Given the description of an element on the screen output the (x, y) to click on. 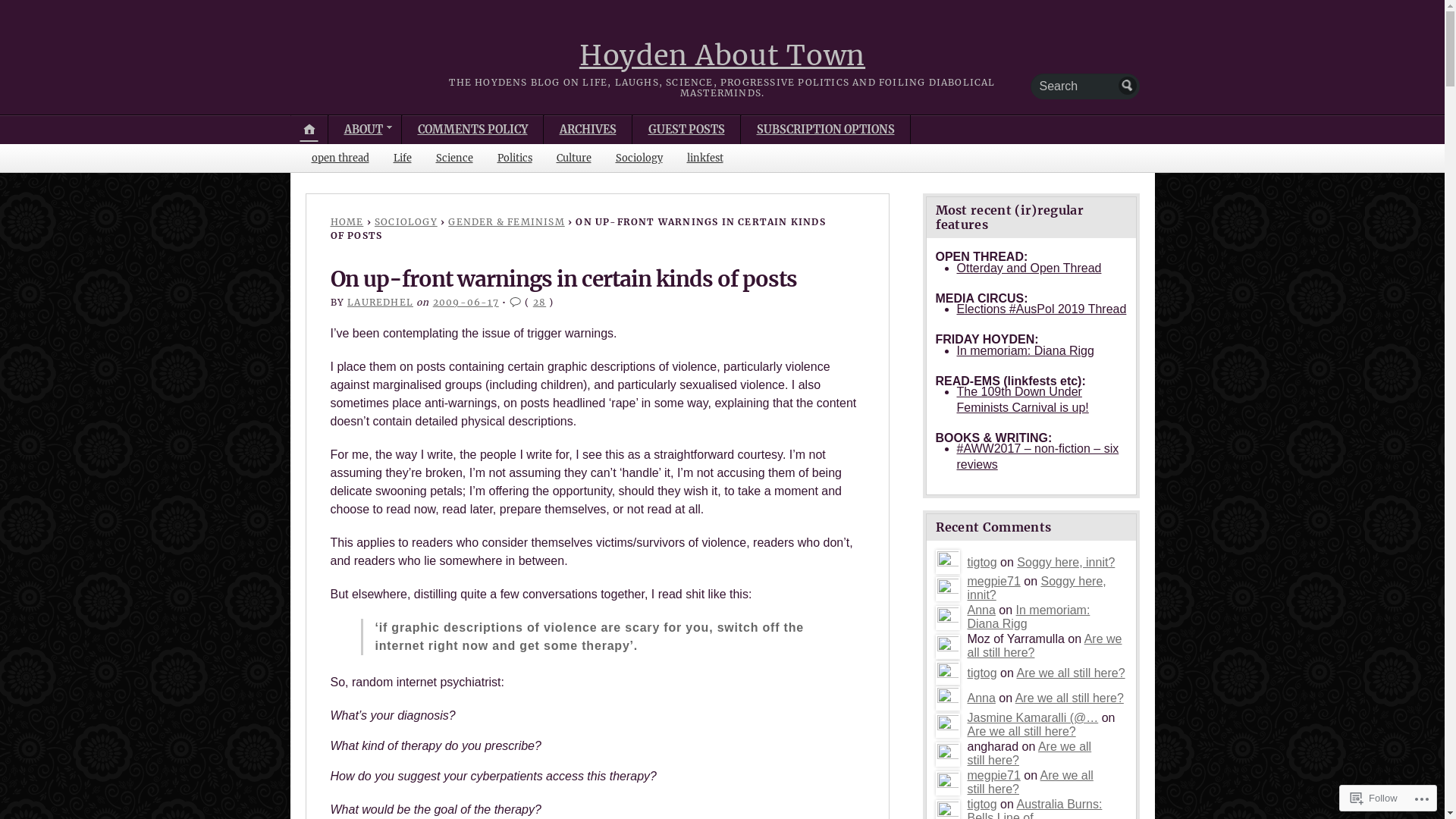
GUEST POSTS Element type: text (685, 129)
open thread Element type: text (339, 158)
megpie71 Element type: text (993, 774)
Science Element type: text (453, 158)
Anna Element type: text (981, 609)
Sociology Element type: text (638, 158)
Anna Element type: hover (947, 698)
Otterday and Open Thread Element type: text (1029, 267)
linkfest Element type: text (704, 158)
Moz of Yarramulla Element type: hover (947, 646)
megpie71 Element type: hover (947, 782)
ABOUT Element type: text (365, 129)
Hoyden About Town Element type: text (722, 55)
Are we all still here? Element type: text (1021, 730)
Are we all still here? Element type: text (1044, 645)
Soggy here, innit? Element type: text (1065, 561)
Life Element type: text (401, 158)
tigtog Element type: hover (947, 561)
Anna Element type: hover (947, 617)
Soggy here, innit? Element type: text (1036, 587)
Jasmine Kamaralli (@jkamaralli) Element type: hover (947, 725)
Are we all still here? Element type: text (1030, 781)
megpie71 Element type: hover (947, 588)
ARCHIVES Element type: text (587, 129)
COMMENTS POLICY Element type: text (471, 129)
In memoriam: Diana Rigg Element type: text (1028, 616)
28 Element type: text (539, 301)
2009-06-17 Element type: text (465, 301)
In memoriam: Diana Rigg Element type: text (1025, 350)
Politics Element type: text (514, 158)
HOME Element type: text (347, 221)
tigtog Element type: hover (947, 673)
SUBSCRIPTION OPTIONS Element type: text (825, 129)
SOCIOLOGY Element type: text (405, 221)
Anna Element type: text (981, 697)
megpie71 Element type: text (993, 580)
tigtog Element type: text (982, 561)
Are we all still here? Element type: text (1029, 753)
Elections #AusPol 2019 Thread Element type: text (1041, 308)
angharad Element type: hover (947, 754)
GENDER & FEMINISM Element type: text (506, 221)
tigtog Element type: text (982, 672)
Culture Element type: text (573, 158)
tigtog Element type: text (982, 803)
LAUREDHEL Element type: text (380, 301)
Are we all still here? Element type: text (1070, 672)
Follow Element type: text (1373, 797)
The 109th Down Under Feminists Carnival is up! Element type: text (1022, 399)
Are we all still here? Element type: text (1069, 697)
